Given the description of an element on the screen output the (x, y) to click on. 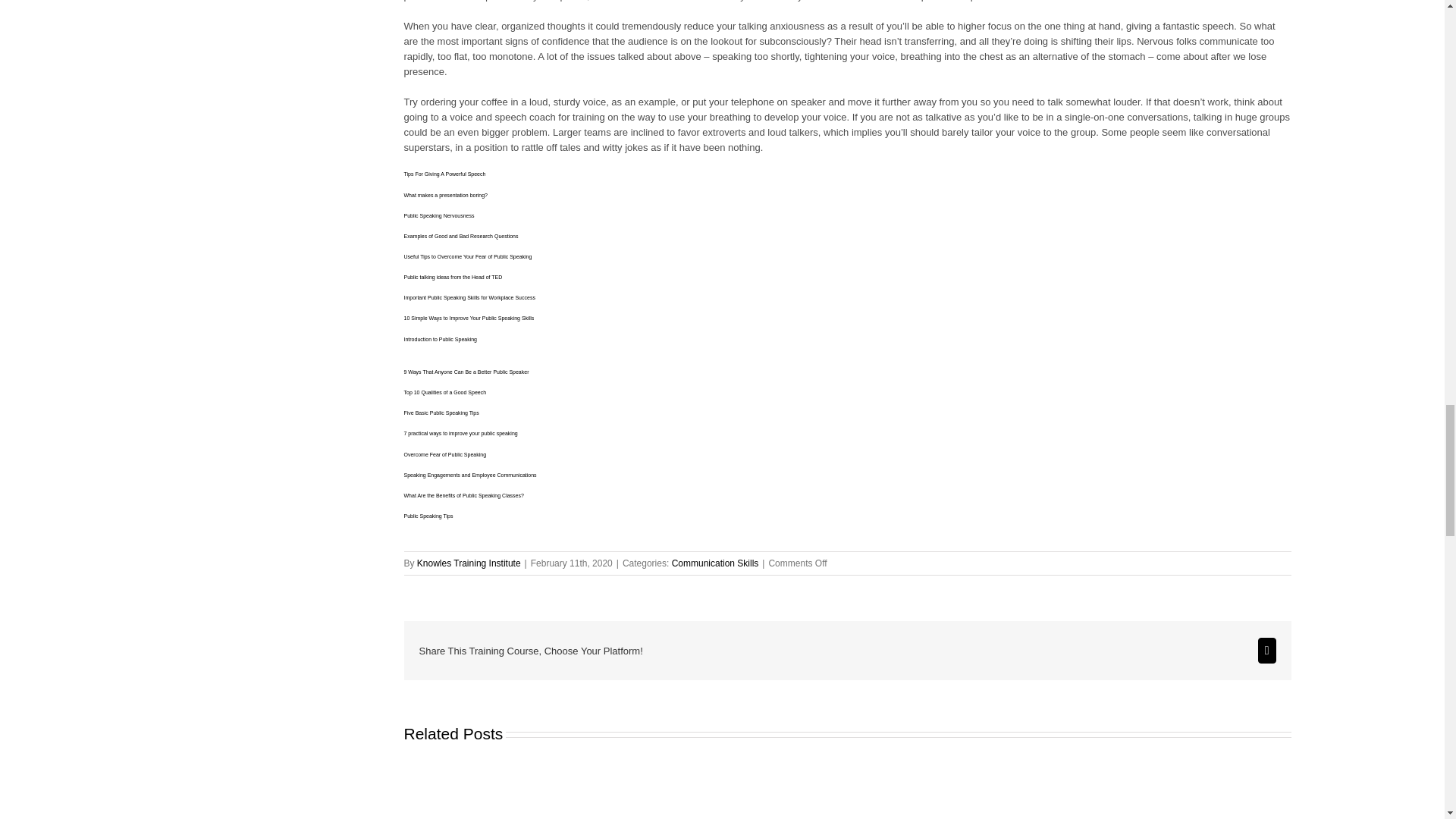
Public Speaking Nervousness (438, 215)
Posts by Knowles Training Institute (468, 562)
Tips For Giving A Powerful Speech (443, 173)
What makes a presentation boring? (445, 195)
Useful Tips to Overcome Your Fear of Public Speaking (467, 256)
Examples of Good and Bad Research Questions (460, 236)
